Given the description of an element on the screen output the (x, y) to click on. 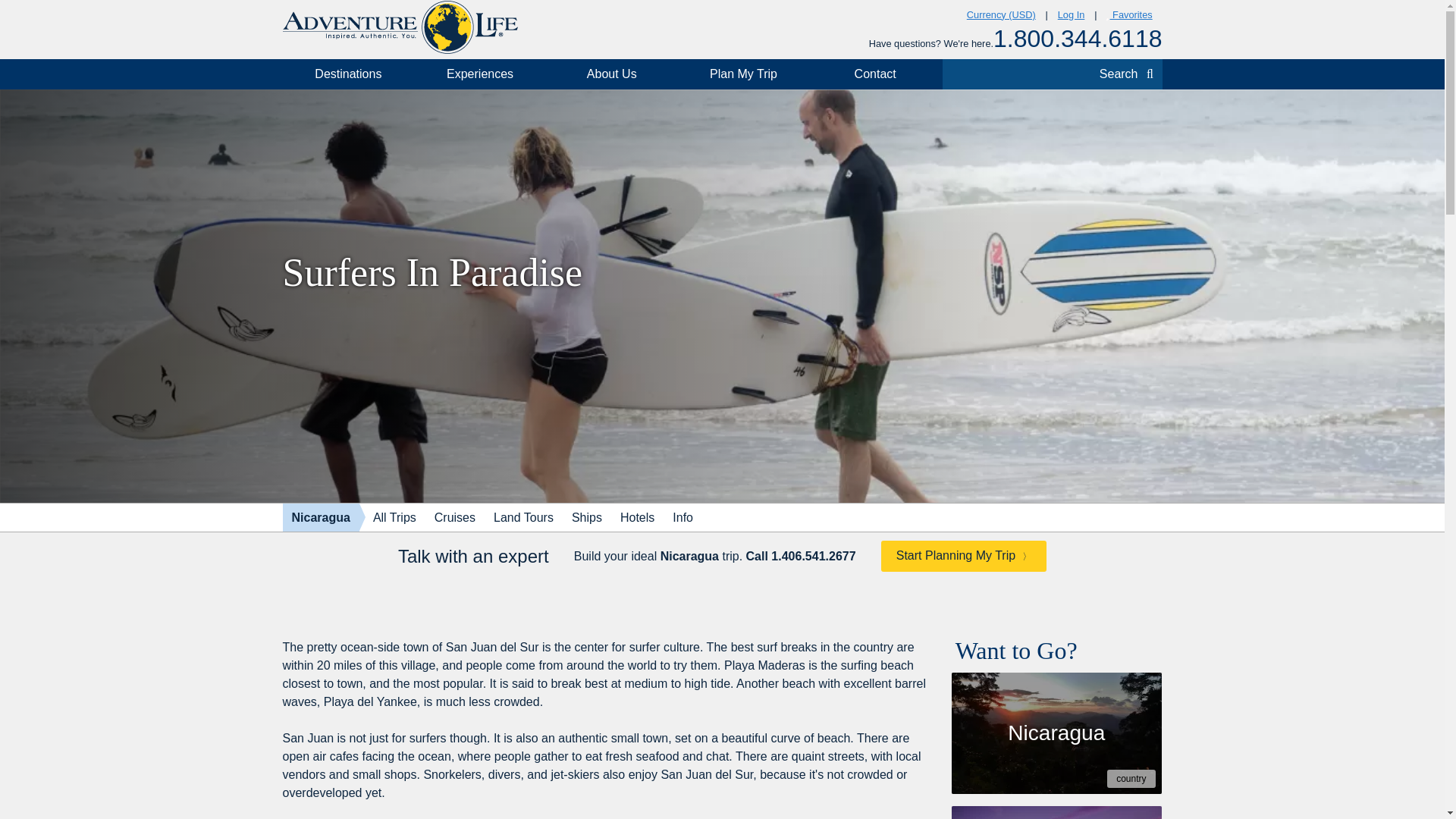
Destinations (347, 73)
Adventure Life (399, 27)
1.800.344.6118 (1076, 38)
Log In (1071, 14)
Favorites (1128, 14)
